Given the description of an element on the screen output the (x, y) to click on. 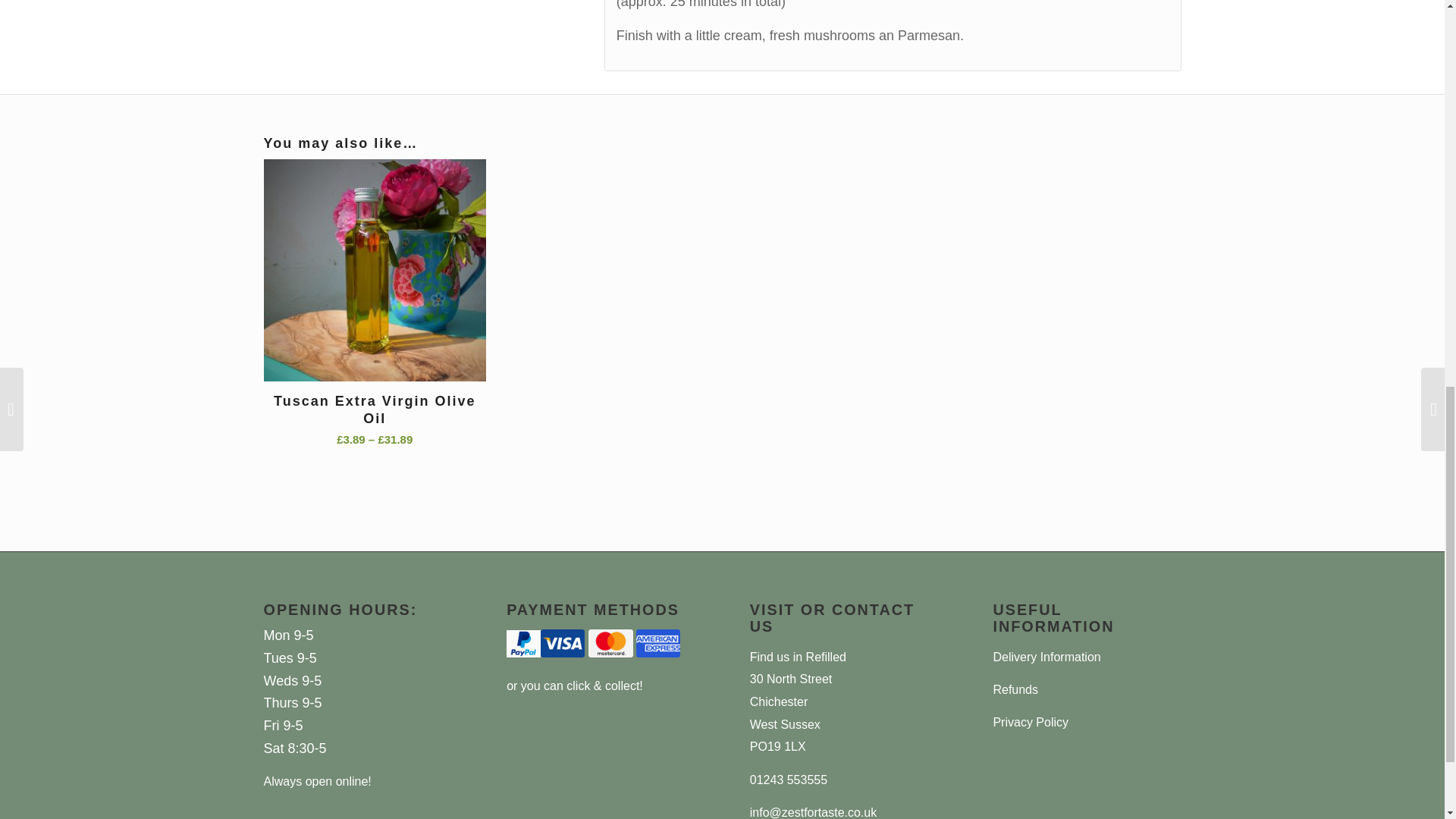
01243 553555 (788, 779)
